Given the description of an element on the screen output the (x, y) to click on. 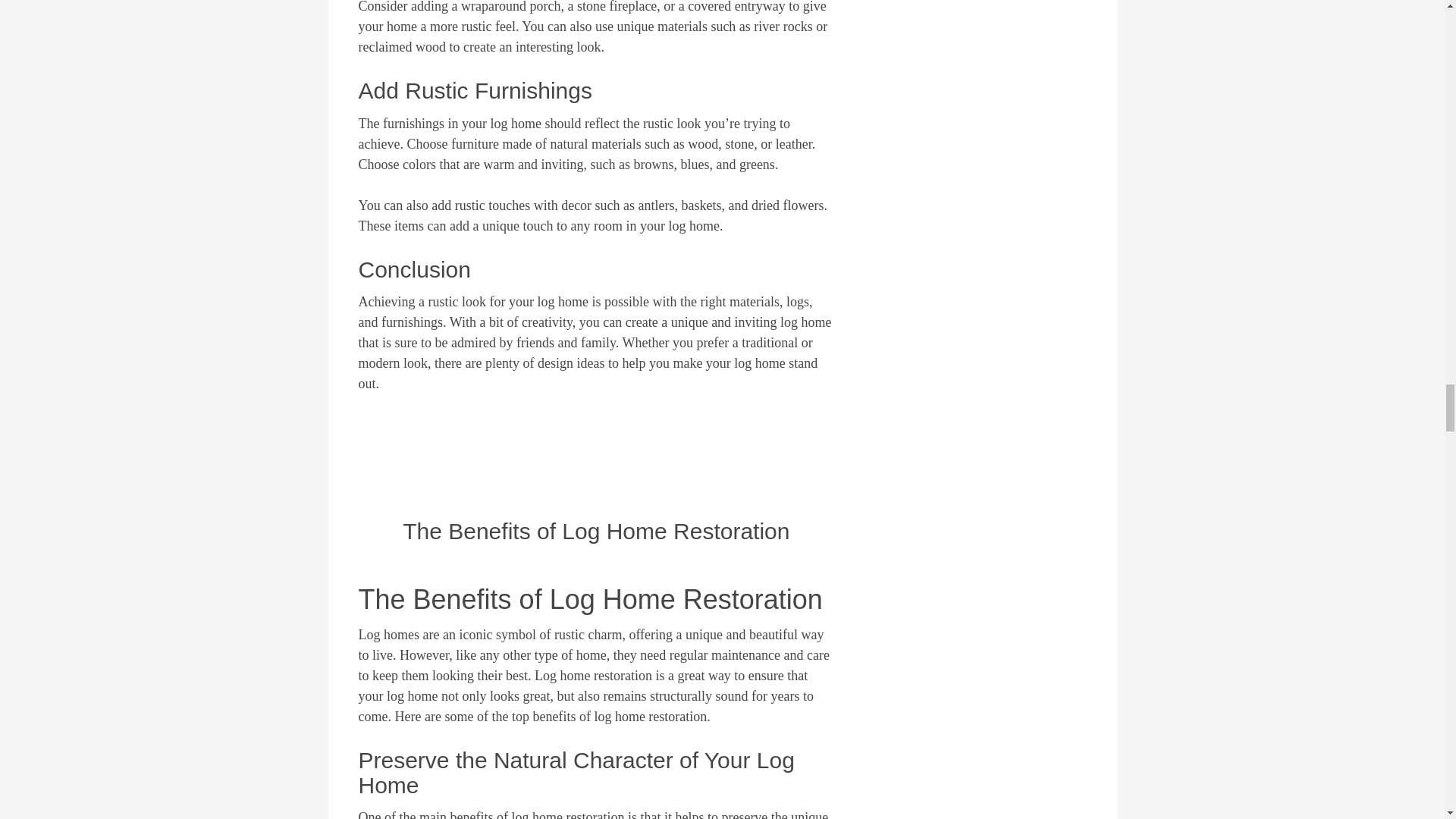
The Benefits of Log Home Restoration (596, 530)
